Given the description of an element on the screen output the (x, y) to click on. 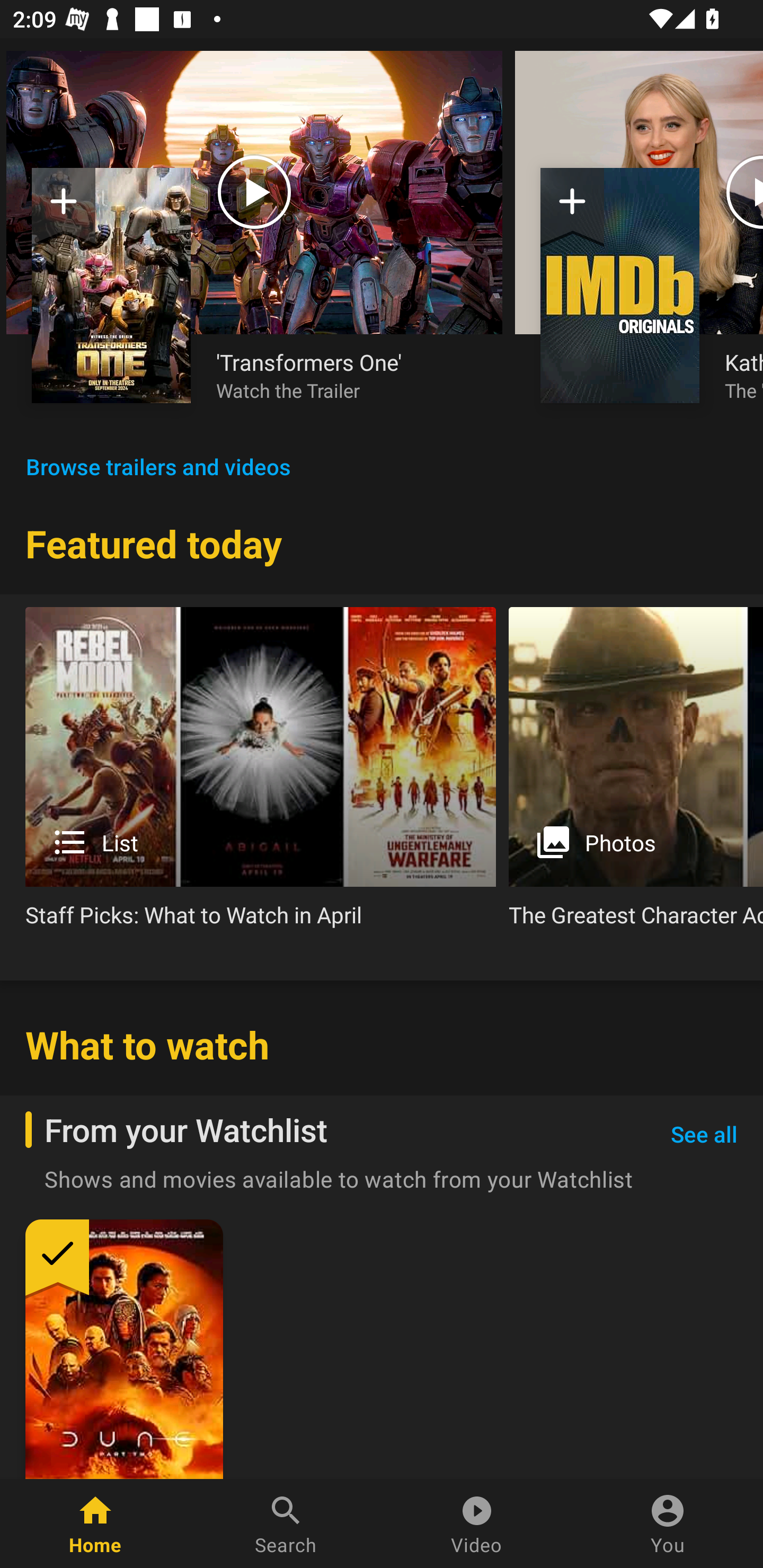
Not in watchlist (111, 284)
Not in watchlist (63, 207)
Not in watchlist (619, 284)
Not in watchlist (572, 207)
'Transformers One' Watch the Trailer (345, 374)
List Staff Picks: What to Watch in April (260, 774)
Photos The Greatest Character Actors of All Time (635, 774)
See all See all From your Watchlist (703, 1134)
Search (285, 1523)
Video (476, 1523)
You (667, 1523)
